Given the description of an element on the screen output the (x, y) to click on. 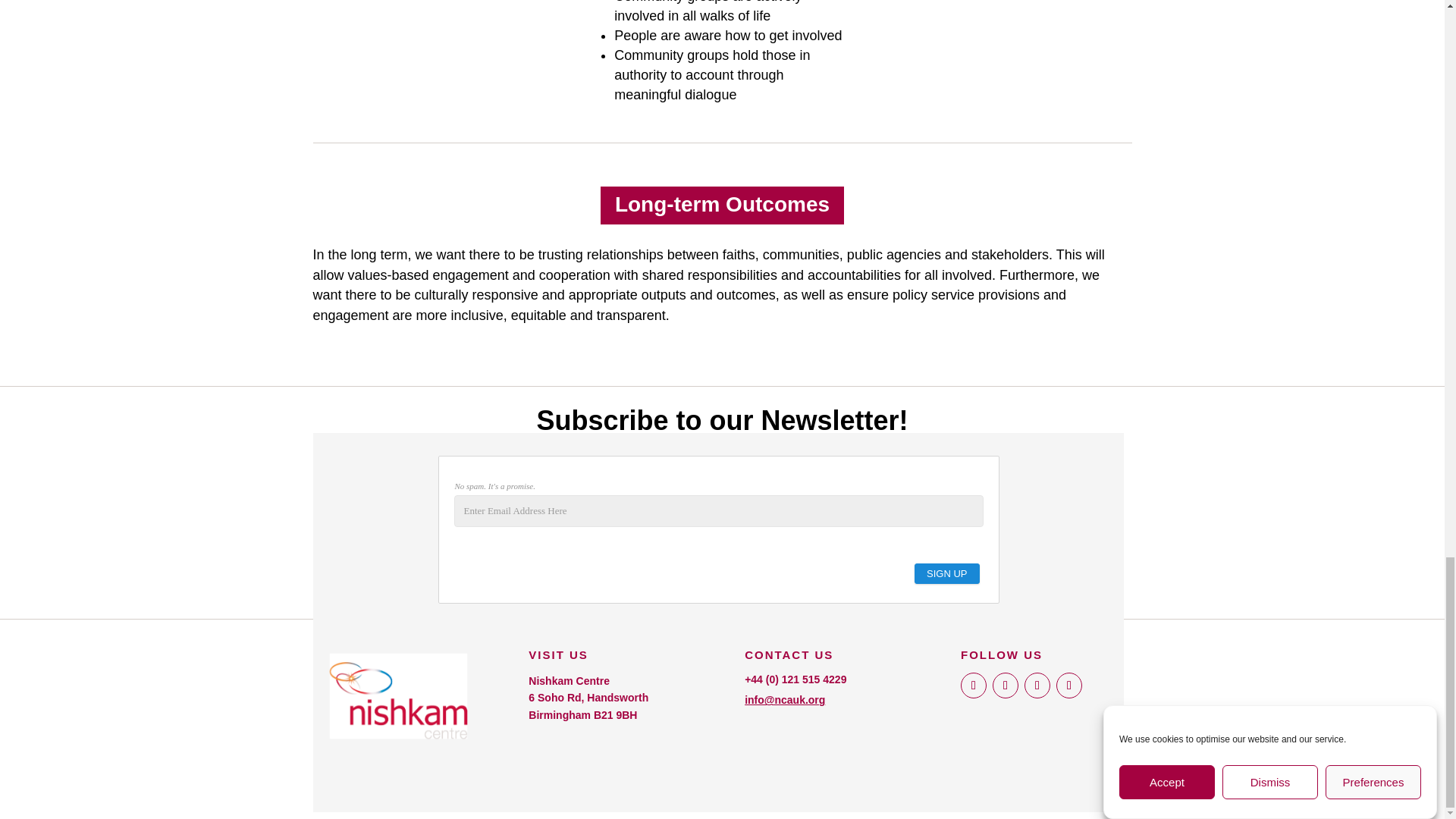
Follow on Instagram (1037, 685)
Follow on Facebook (973, 685)
Follow on LinkedIn (1069, 685)
Follow on Twitter (1004, 685)
Untitled-1 (398, 695)
